Given the description of an element on the screen output the (x, y) to click on. 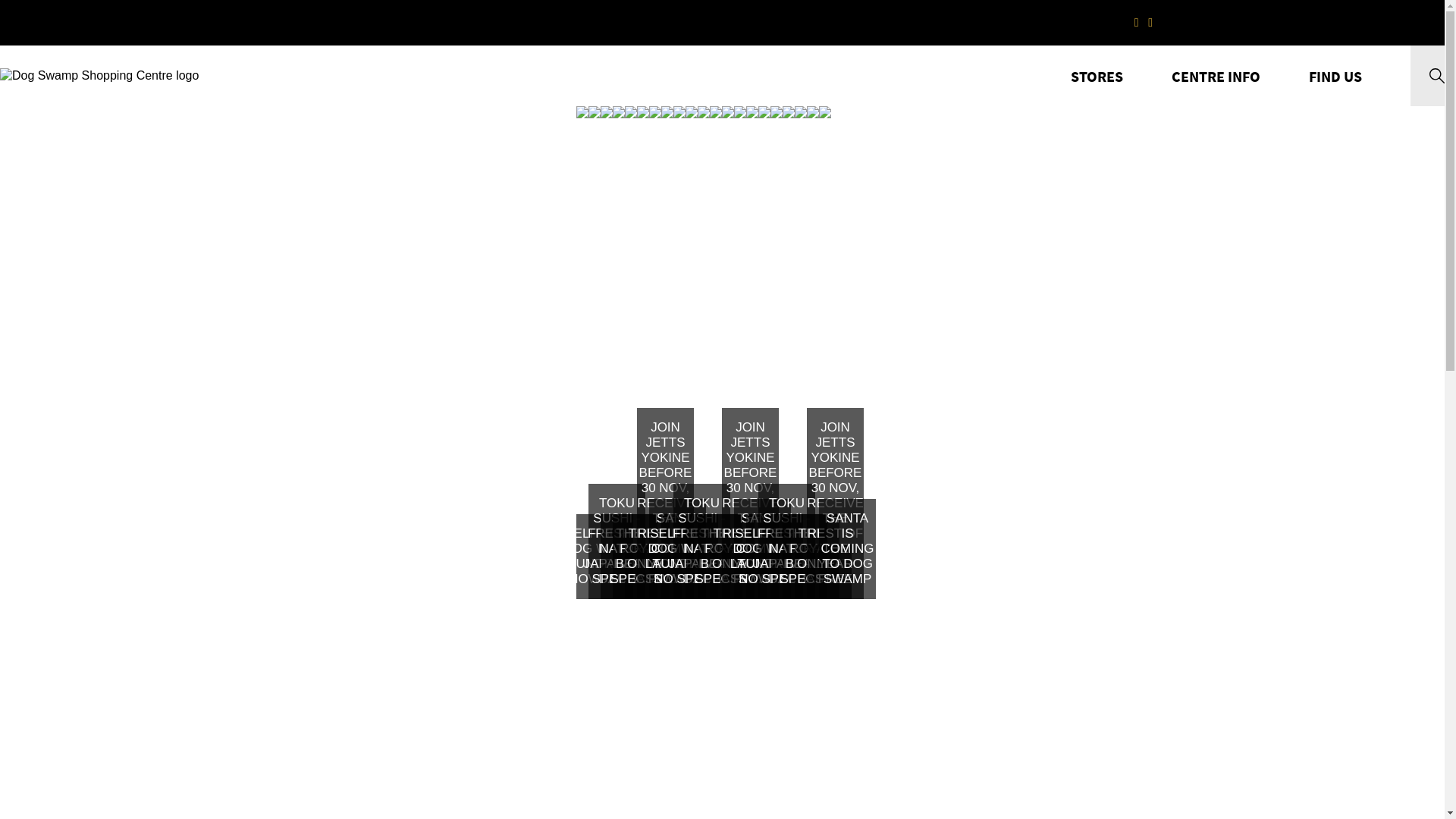
SANTA IS COMING TO DOG SWAMP Element type: text (861, 352)
SELF SERVE DOG WASH & LAUNDROMAT NOW OPEN Element type: text (618, 352)
THE ROYAL BEAUTY BAR Element type: text (655, 352)
STORES Element type: text (1096, 75)
CENTRE INFO Element type: text (1215, 75)
SELF SERVE DOG WASH & LAUNDROMAT NOW OPEN Element type: text (788, 352)
TOKU SUSHI - FRESHLY MADE JAPANESE DAILY Element type: text (630, 352)
ONLY AT SPECSAVERS Element type: text (752, 352)
THE NATURAL HAIR SPECIALIST Element type: text (643, 352)
ONLY AT SPECSAVERS Element type: text (837, 352)
THE ROYAL BEAUTY BAR Element type: text (825, 352)
TOKU SUSHI - FRESHLY MADE JAPANESE DAILY Element type: text (800, 352)
FIND US Element type: text (1334, 75)
SELF SERVE DOG WASH & LAUNDROMAT NOW OPEN Element type: text (703, 352)
ONLY AT SPECSAVERS Element type: text (667, 352)
THE NATURAL HAIR SPECIALIST Element type: text (727, 352)
THE ROYAL BEAUTY BAR Element type: text (740, 352)
TOKU SUSHI - FRESHLY MADE JAPANESE DAILY Element type: text (715, 352)
SANTA IS COMING TO DOG SWAMP Element type: text (776, 352)
THE NATURAL HAIR SPECIALIST Element type: text (812, 352)
SANTA IS COMING TO DOG SWAMP Element type: text (691, 352)
